Given the description of an element on the screen output the (x, y) to click on. 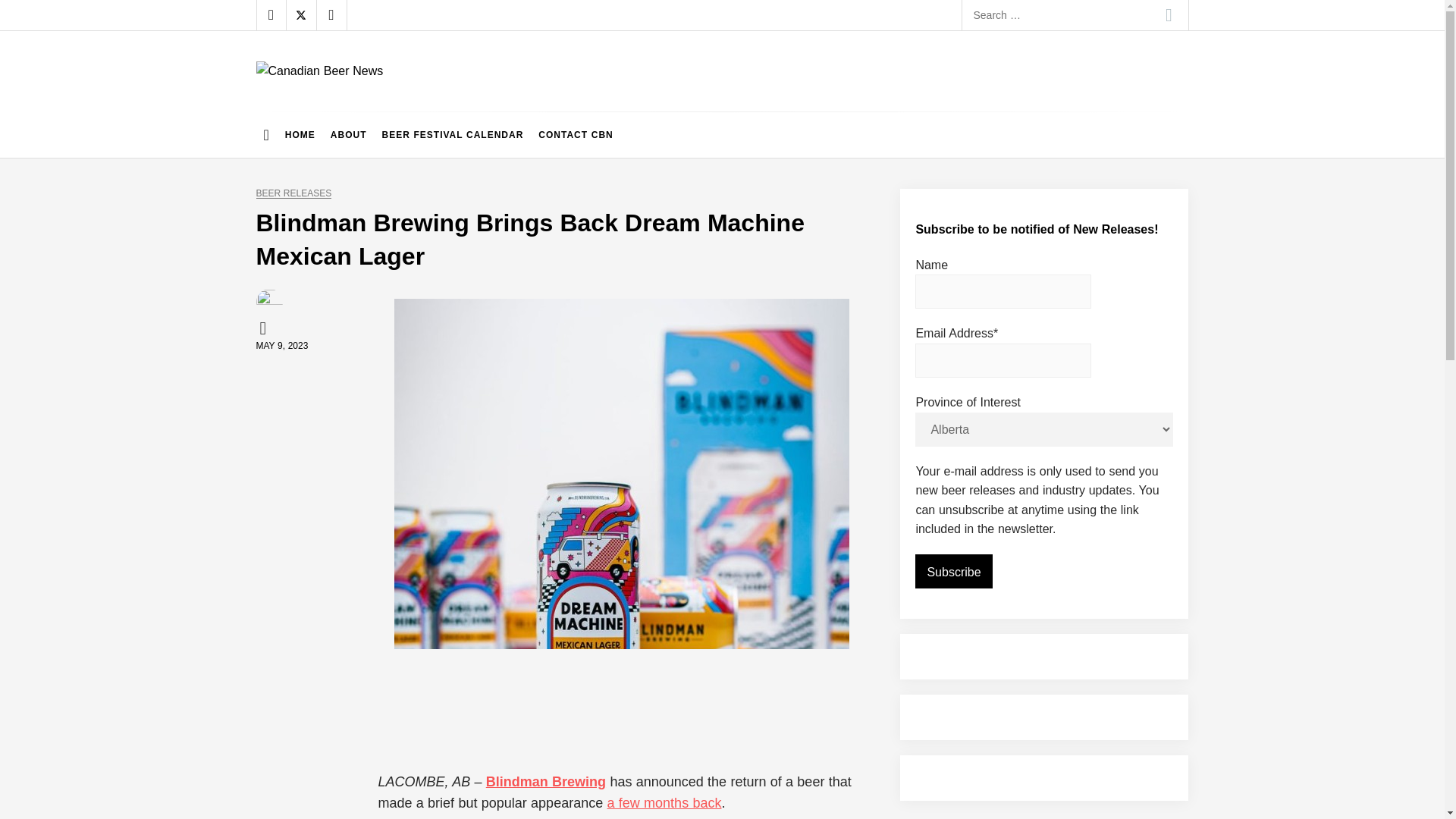
Subscribe (953, 571)
Canadian Beer News (384, 95)
a few months back (663, 802)
HOME (300, 135)
CBN (265, 327)
ABOUT (348, 135)
Blindman Brewing (545, 781)
BEER RELEASES (293, 194)
Search (1169, 15)
BEER FESTIVAL CALENDAR (452, 135)
